Given the description of an element on the screen output the (x, y) to click on. 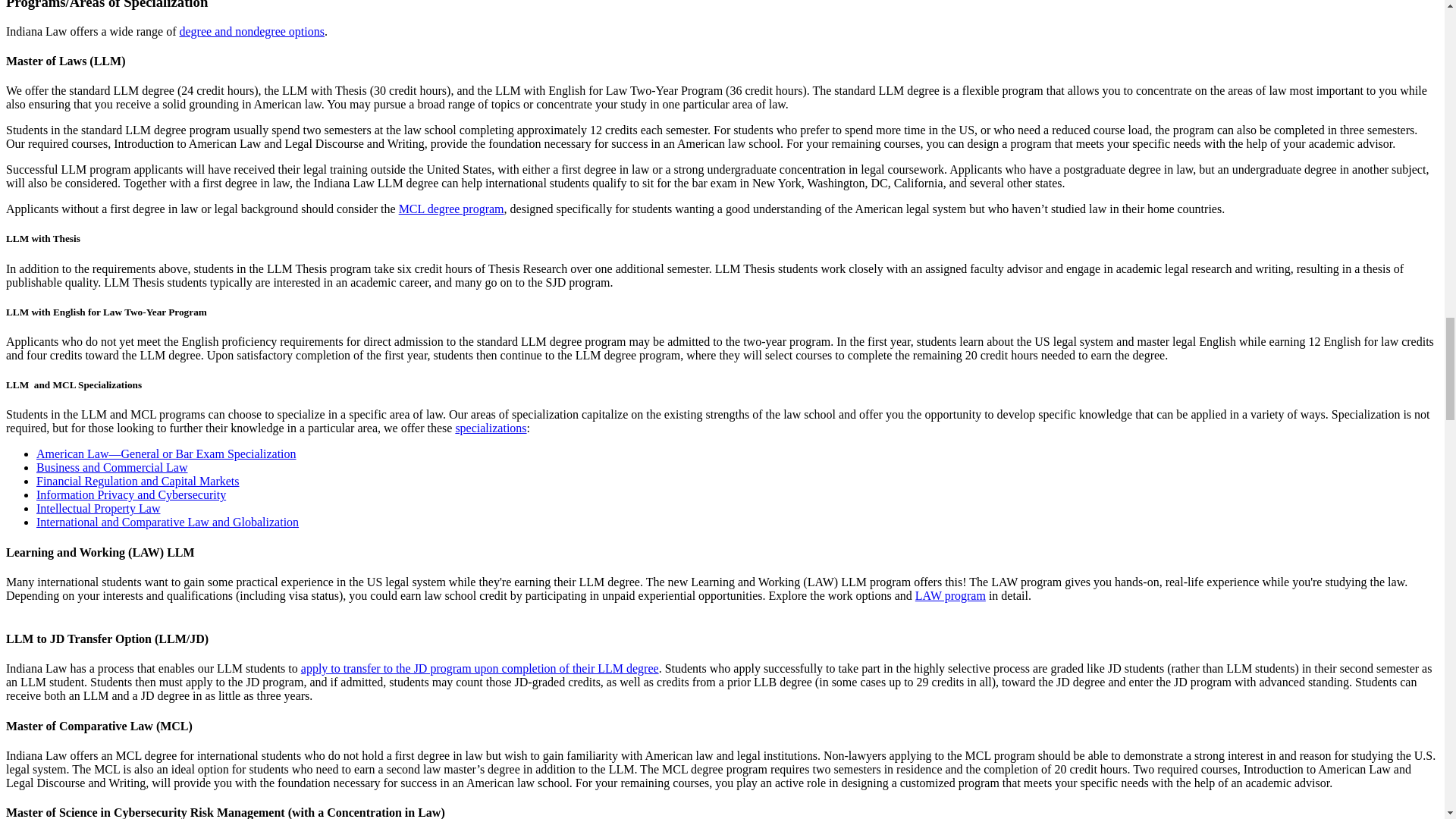
American Law (166, 453)
Business and Commercial Law (111, 467)
Financial Regulation and Capital Markets (138, 481)
International and Comparative Law and Globalization (167, 521)
Information Privacy and Cybersecurity (130, 494)
Intellectual Property Law (98, 508)
LLM specializations (489, 427)
